Given the description of an element on the screen output the (x, y) to click on. 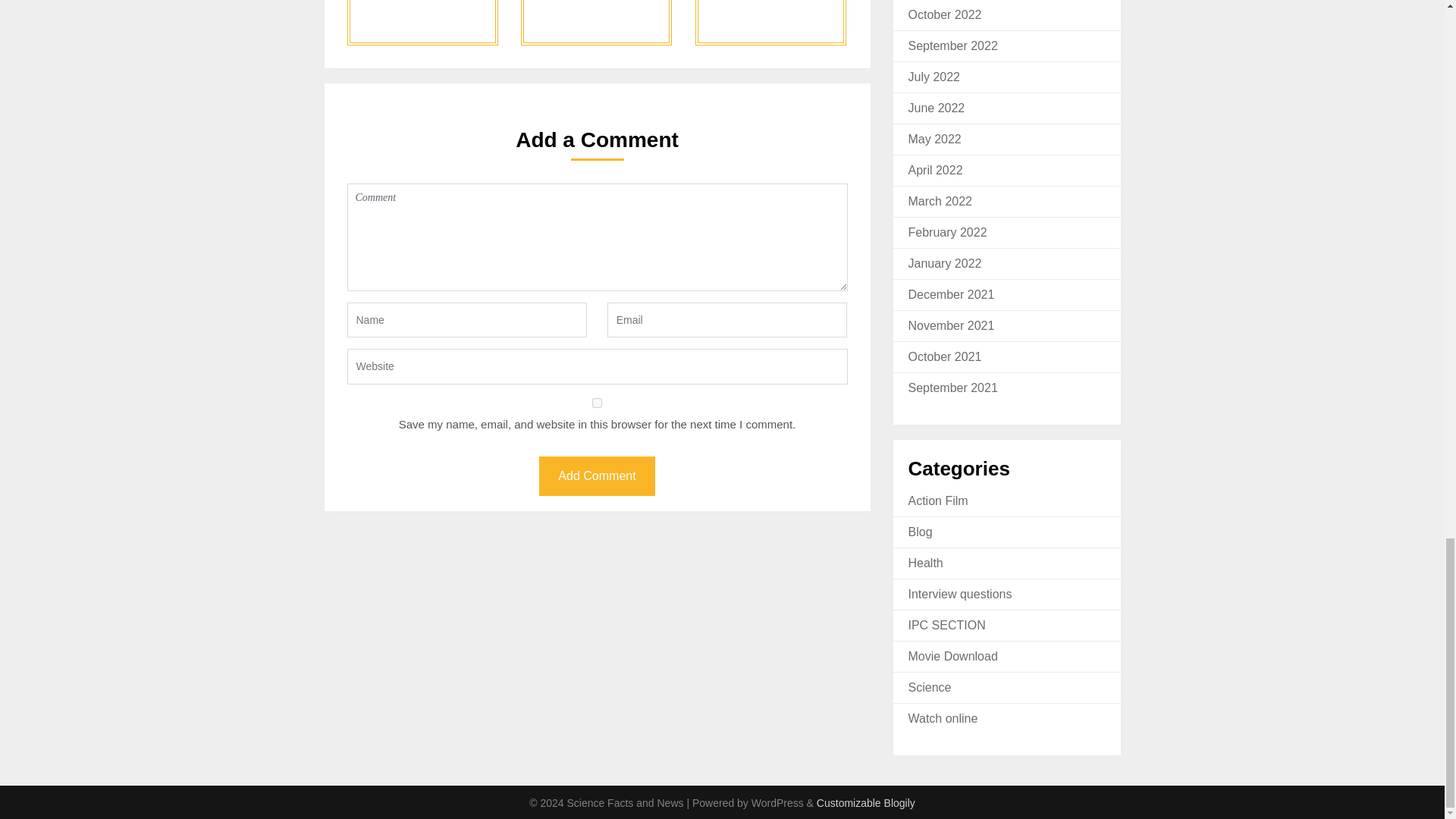
How to put widgets on iphone (596, 22)
I am passionate about best answers (422, 22)
How does your past shape your identity and behavior. (770, 22)
How to put widgets on iphone (596, 22)
How does your past shape your identity and behavior. (770, 22)
Add Comment (595, 476)
I am passionate about best answers (422, 22)
yes (597, 402)
Add Comment (595, 476)
